Given the description of an element on the screen output the (x, y) to click on. 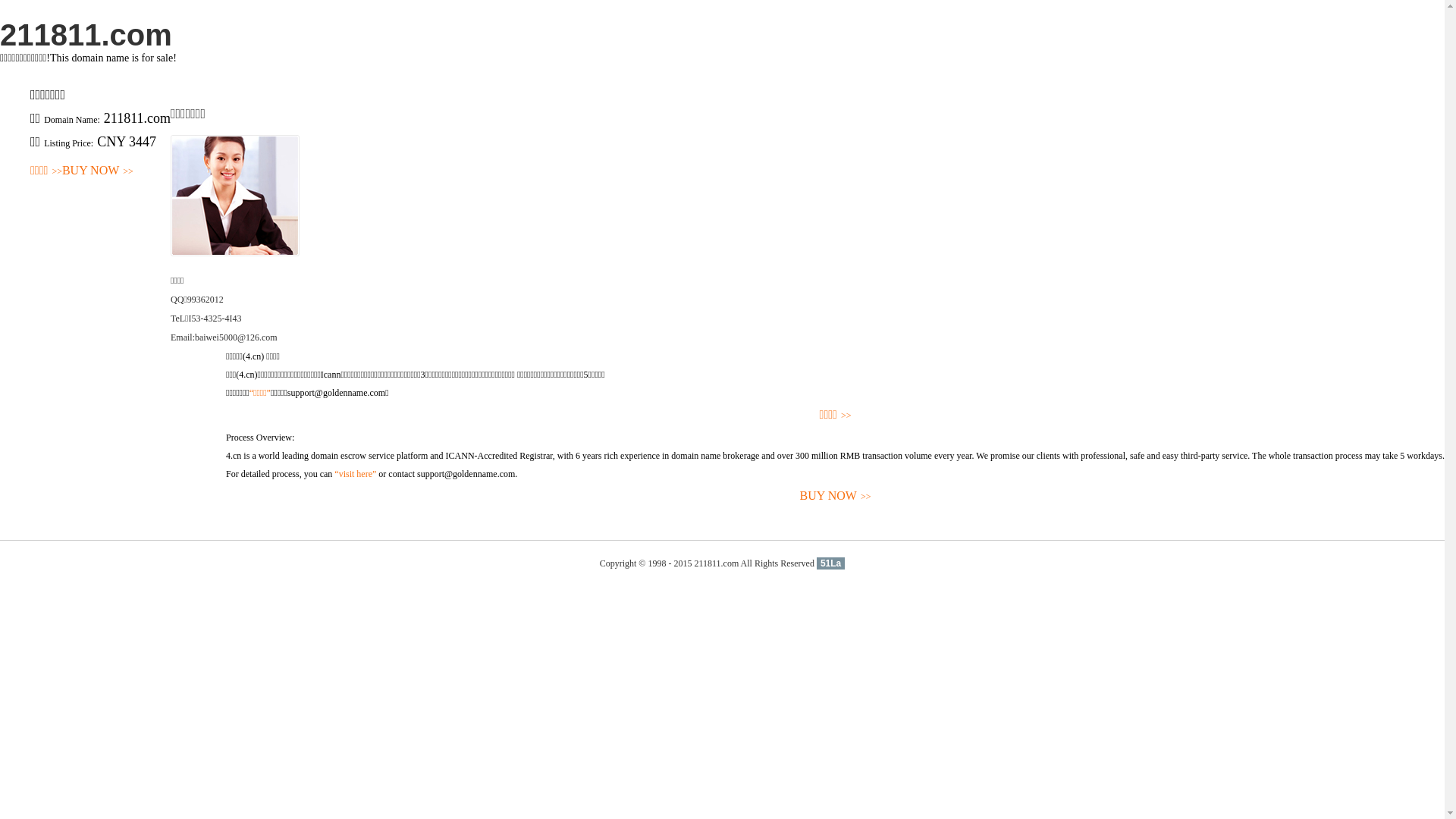
51La Element type: text (830, 563)
BUY NOW>> Element type: text (97, 170)
BUY NOW>> Element type: text (834, 496)
